Given the description of an element on the screen output the (x, y) to click on. 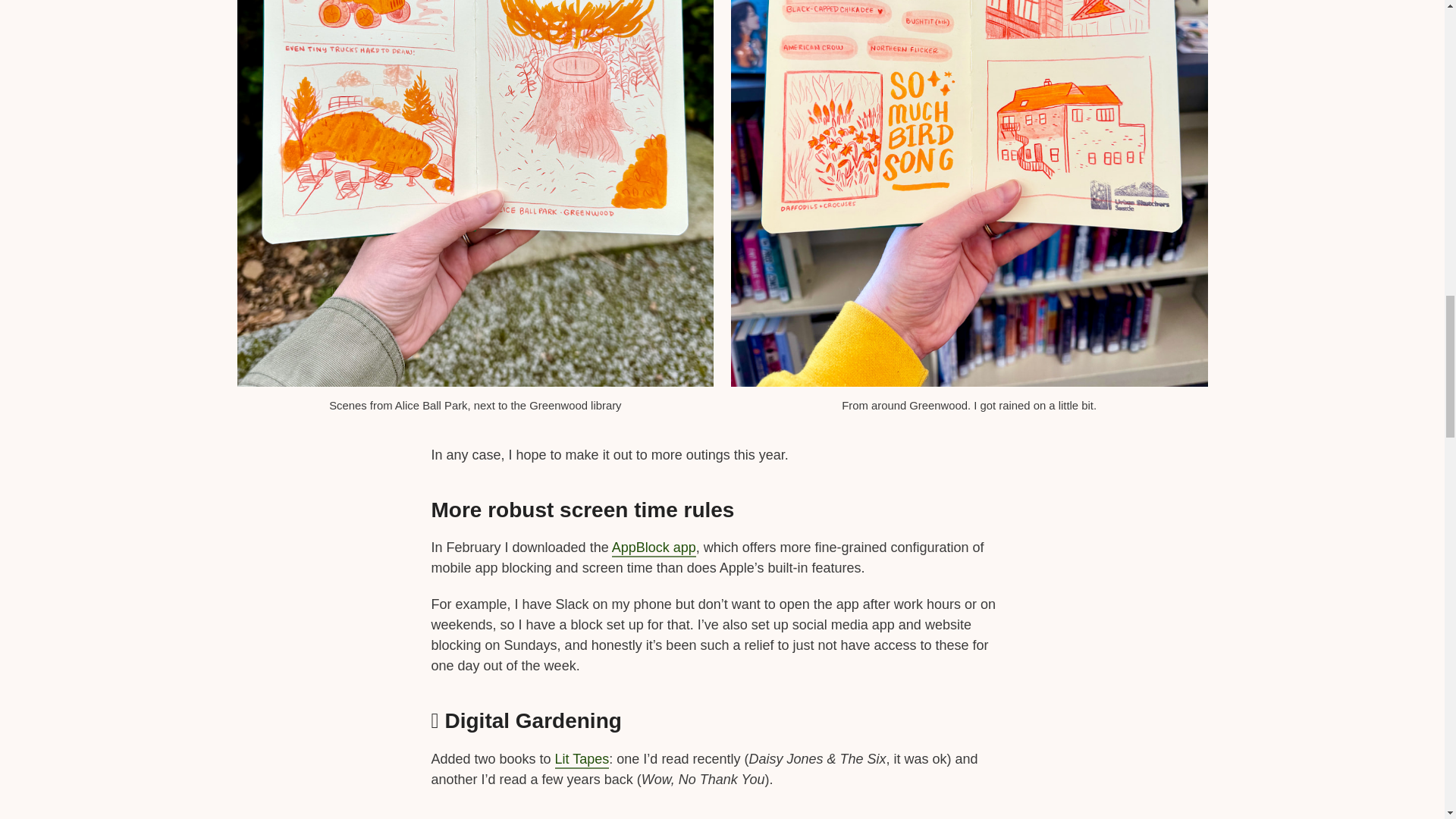
Lit Tapes (582, 760)
AppBlock app (653, 548)
